Given the description of an element on the screen output the (x, y) to click on. 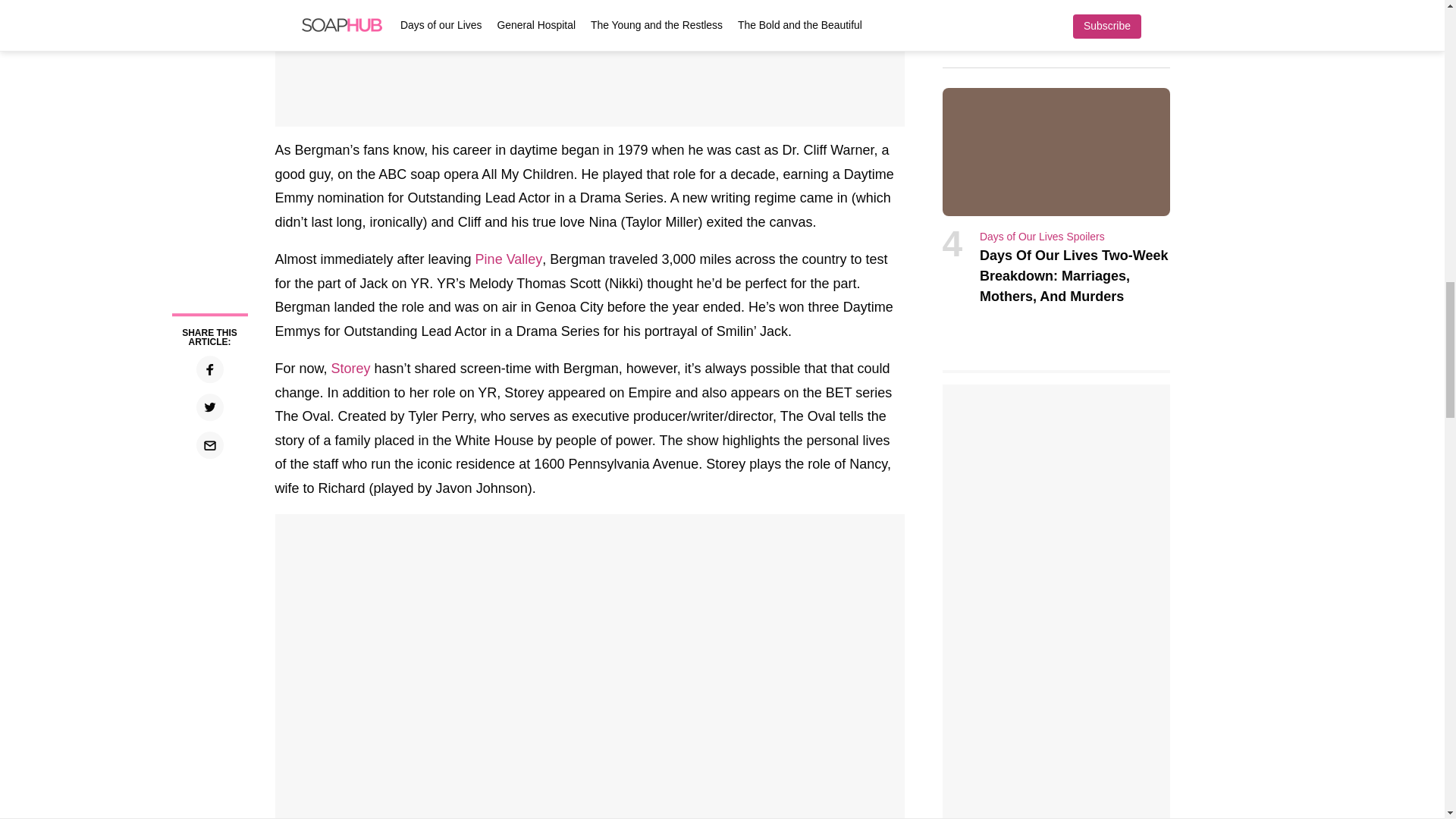
Storey (351, 368)
Pine Valley (509, 258)
